Given the description of an element on the screen output the (x, y) to click on. 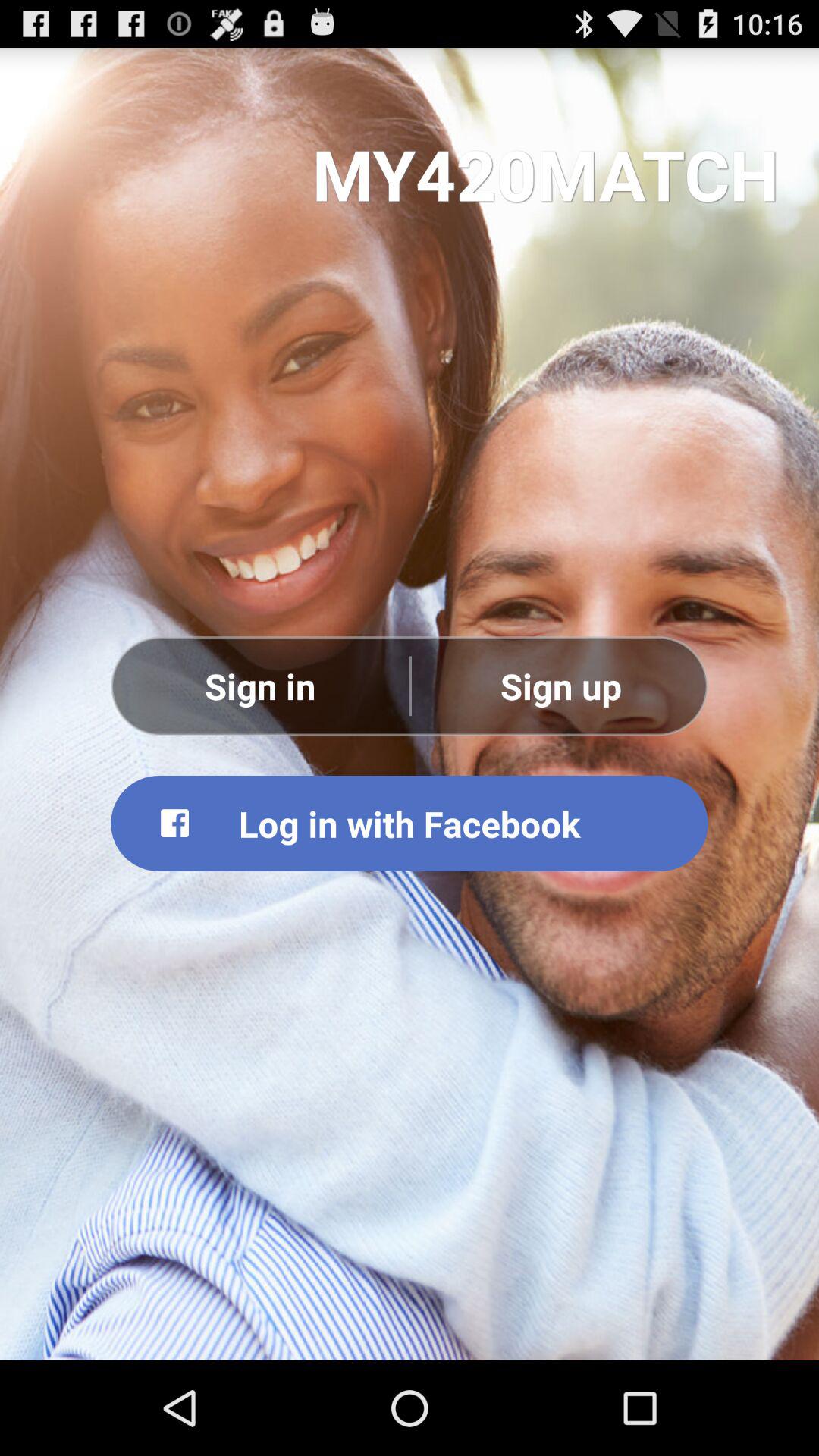
click the item on the left (259, 685)
